Given the description of an element on the screen output the (x, y) to click on. 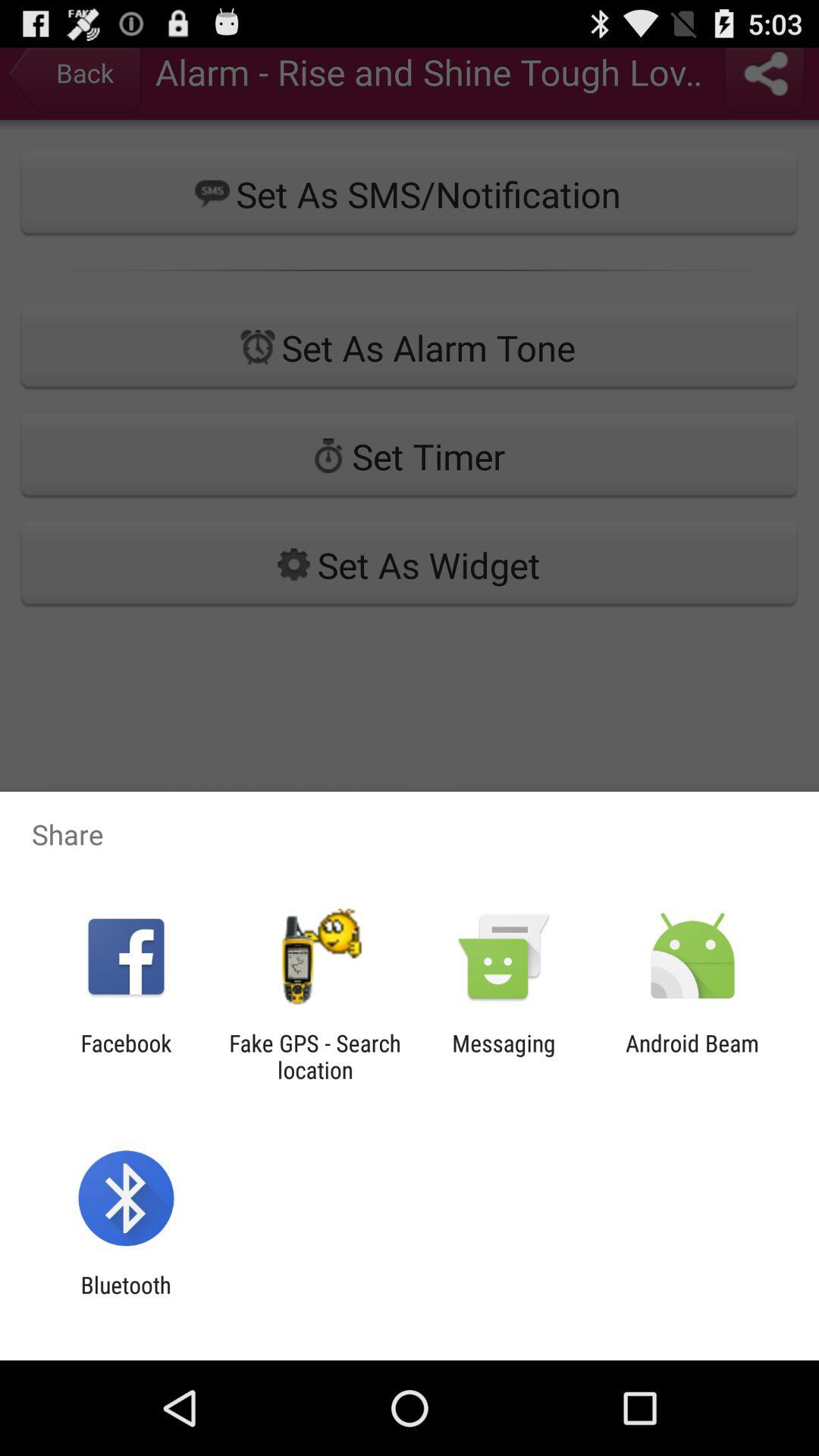
open the bluetooth (125, 1298)
